Given the description of an element on the screen output the (x, y) to click on. 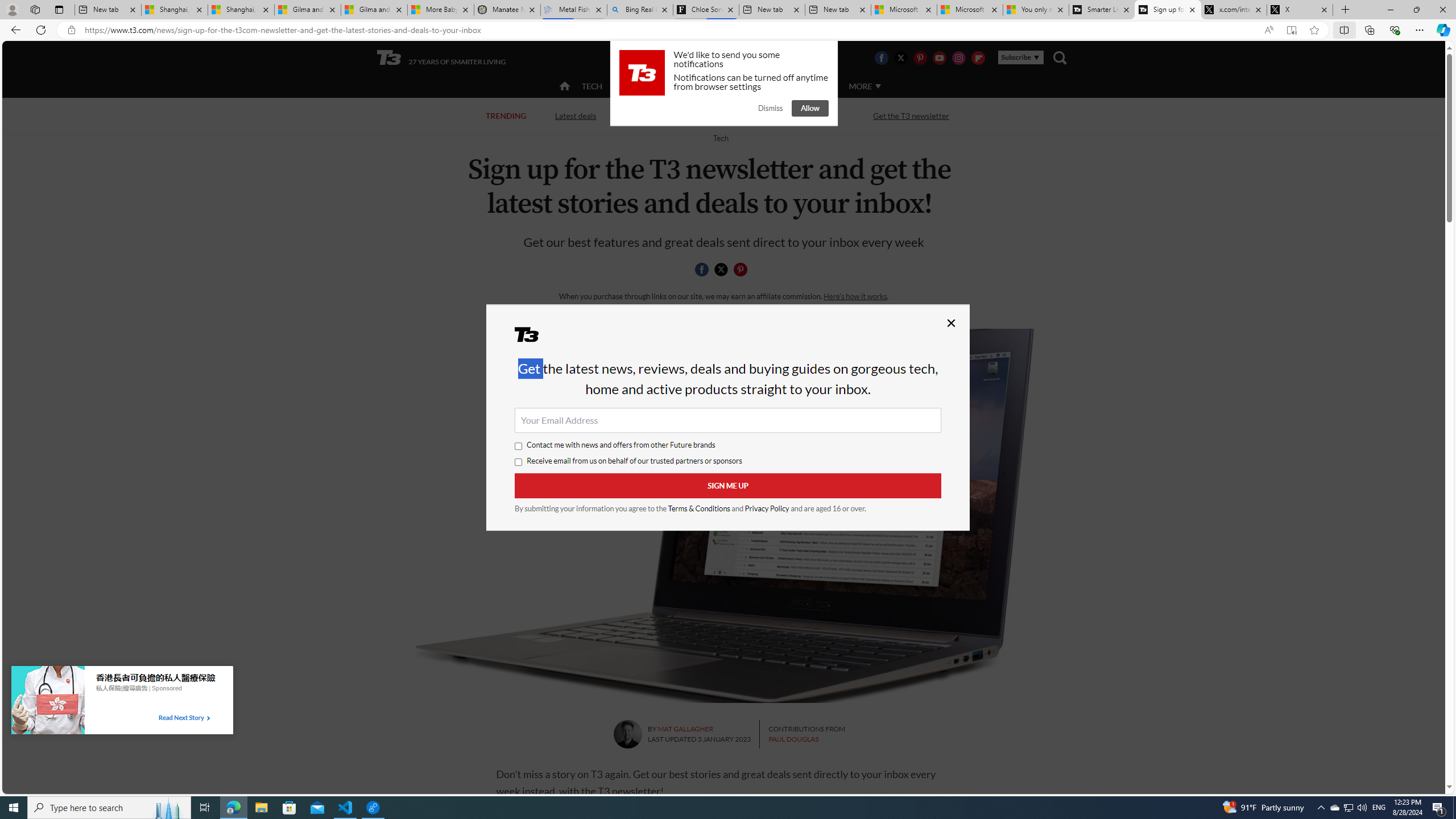
AUTO (815, 85)
home (564, 86)
MAT GALLAGHER (685, 728)
t3.com Logo (641, 72)
LUXURY (765, 85)
Class: icon-svg (739, 269)
Manatee Mortality Statistics | FWC (507, 9)
Return to Tech (720, 137)
Visit us on Pintrest (919, 57)
Back to Class 2024 (670, 115)
Visit us on Youtube (938, 57)
Bing Real Estate - Home sales and rental listings (640, 9)
